Given the description of an element on the screen output the (x, y) to click on. 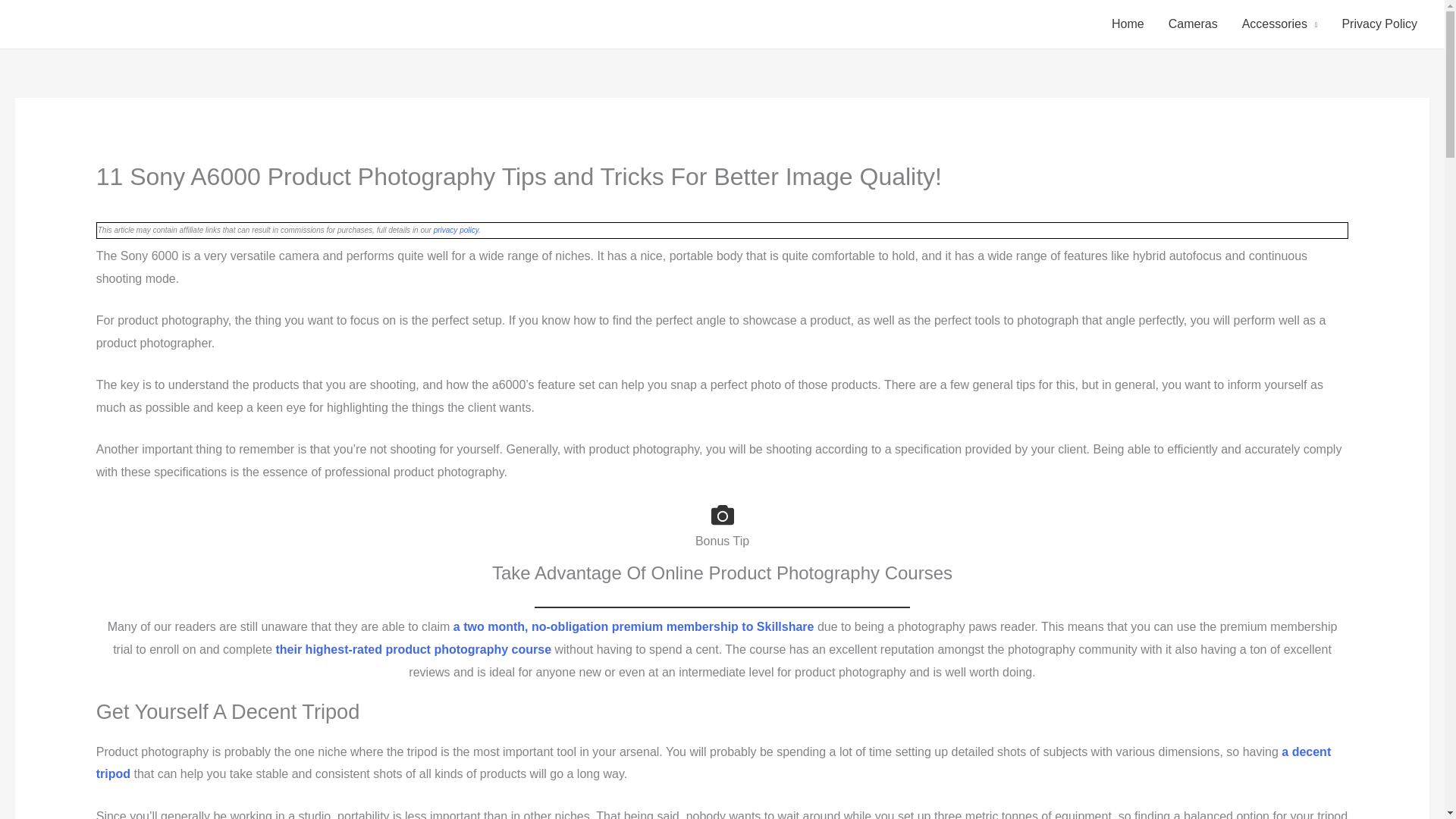
Home (1127, 24)
privacy policy (456, 230)
their highest-rated product photography course (413, 649)
a decent tripod (714, 763)
a two month, no-obligation premium membership to Skillshare (632, 626)
Cameras (1193, 24)
Accessories (1280, 24)
Privacy Policy (1379, 24)
